Given the description of an element on the screen output the (x, y) to click on. 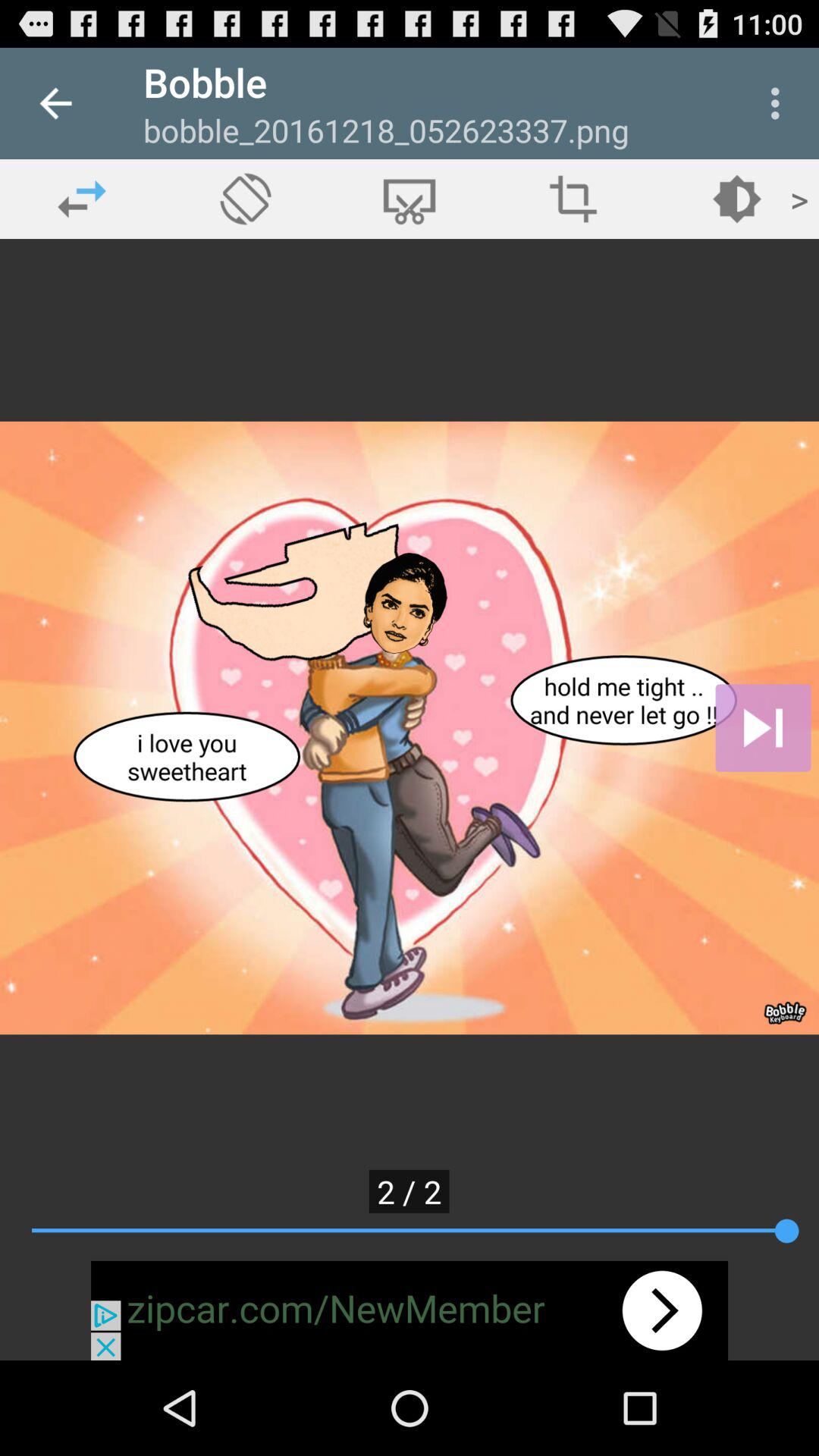
click on the fifth icon from the left (737, 198)
click on the third icon which is at the top center of the page (409, 198)
click on fast forward option (763, 728)
select the auto rotate option on the page (245, 198)
